Given the description of an element on the screen output the (x, y) to click on. 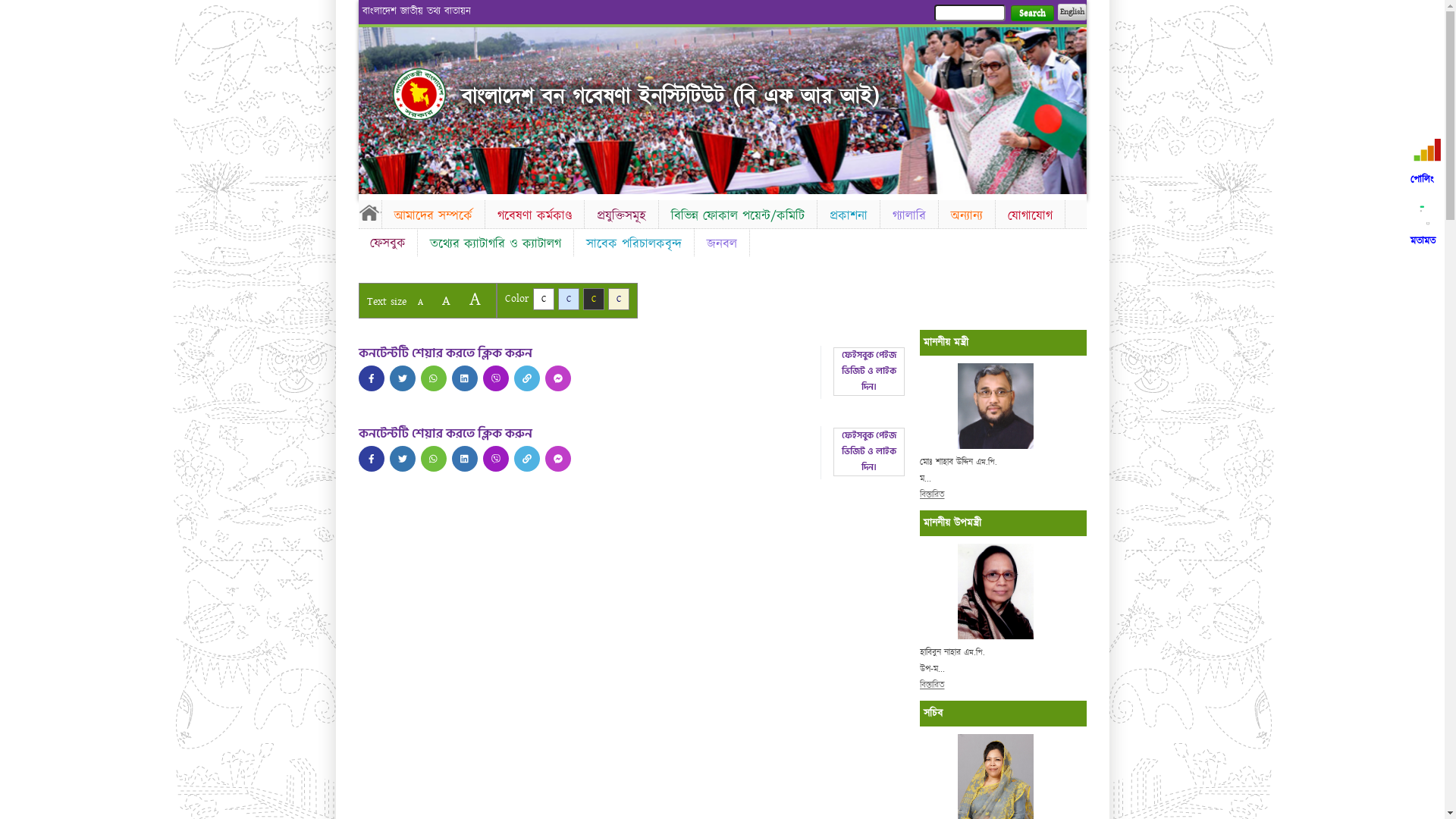
C Element type: text (618, 299)
A Element type: text (474, 298)
Home Element type: hover (368, 211)
English Element type: text (1071, 11)
C Element type: text (568, 299)
Home Element type: hover (418, 93)
Search Element type: text (1031, 13)
A Element type: text (419, 301)
C Element type: text (542, 299)
A Element type: text (445, 300)
C Element type: text (592, 299)
